Given the description of an element on the screen output the (x, y) to click on. 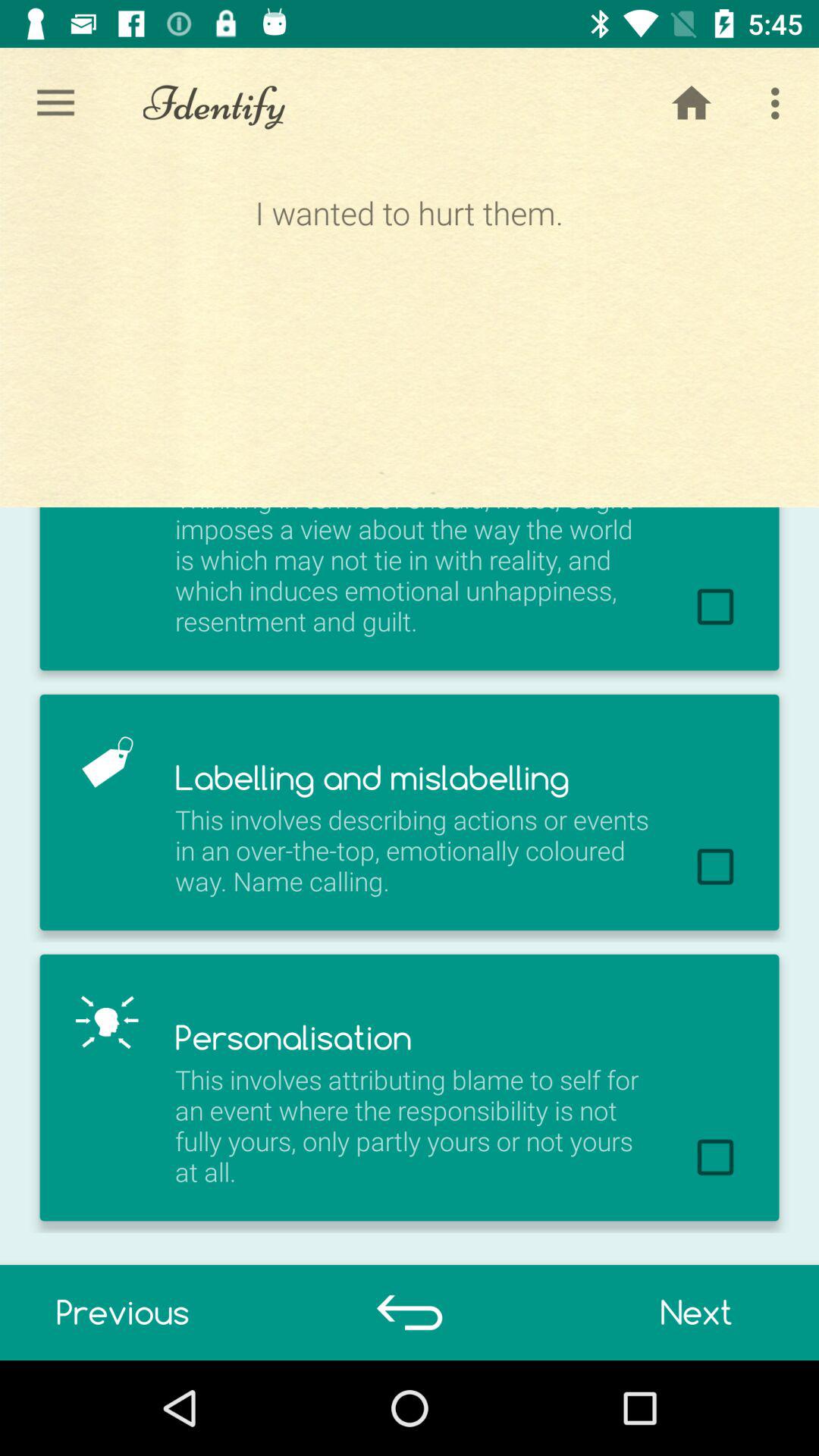
scroll to the i wanted to icon (409, 333)
